Given the description of an element on the screen output the (x, y) to click on. 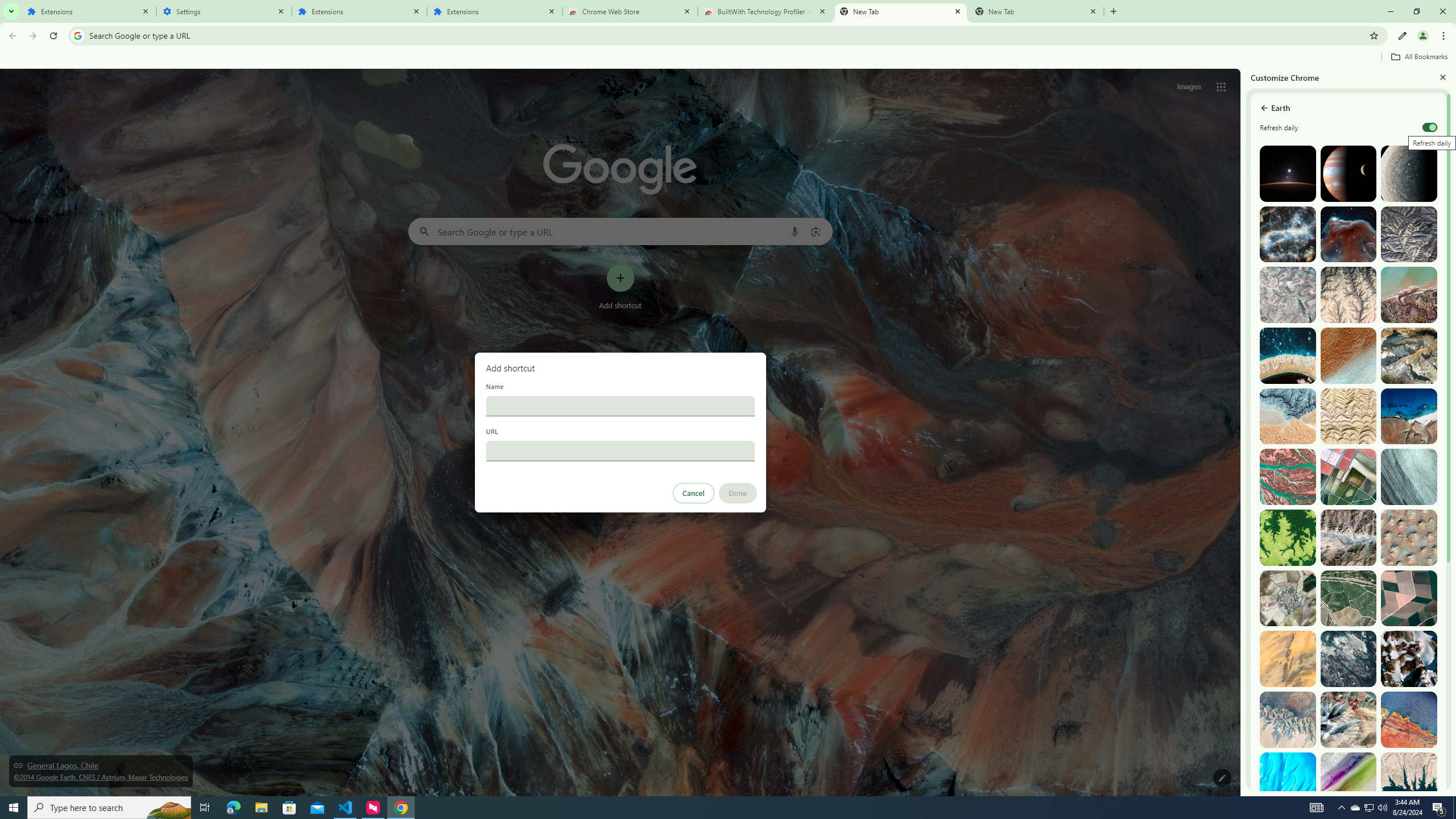
Kelan, Shanxi, China (1408, 233)
Done (737, 493)
All Bookmarks (1418, 56)
South Eleuthera, The Bahamas (1287, 780)
Rikaze, China (1348, 537)
New Tab (1036, 11)
Aigues-Mortes, France (1348, 476)
Side Panel Resize Handle (1242, 431)
The Tuamotu and Gambier Islands, French Polynesia (1287, 355)
Sanaag, Somalia (1348, 294)
Photo by NASA Image Library (1348, 233)
